Given the description of an element on the screen output the (x, y) to click on. 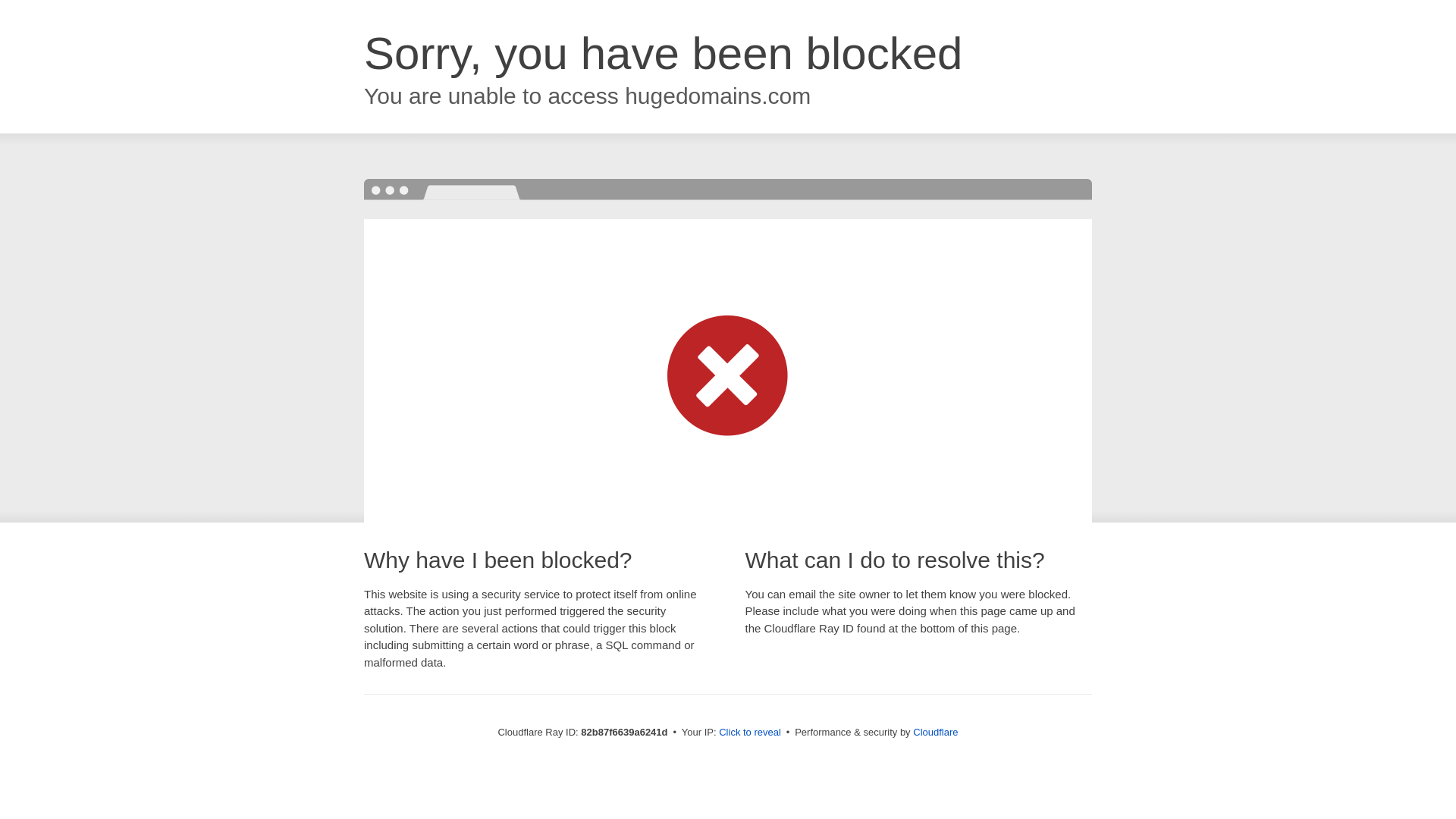
Cloudflare Element type: text (935, 731)
Click to reveal Element type: text (749, 732)
